Given the description of an element on the screen output the (x, y) to click on. 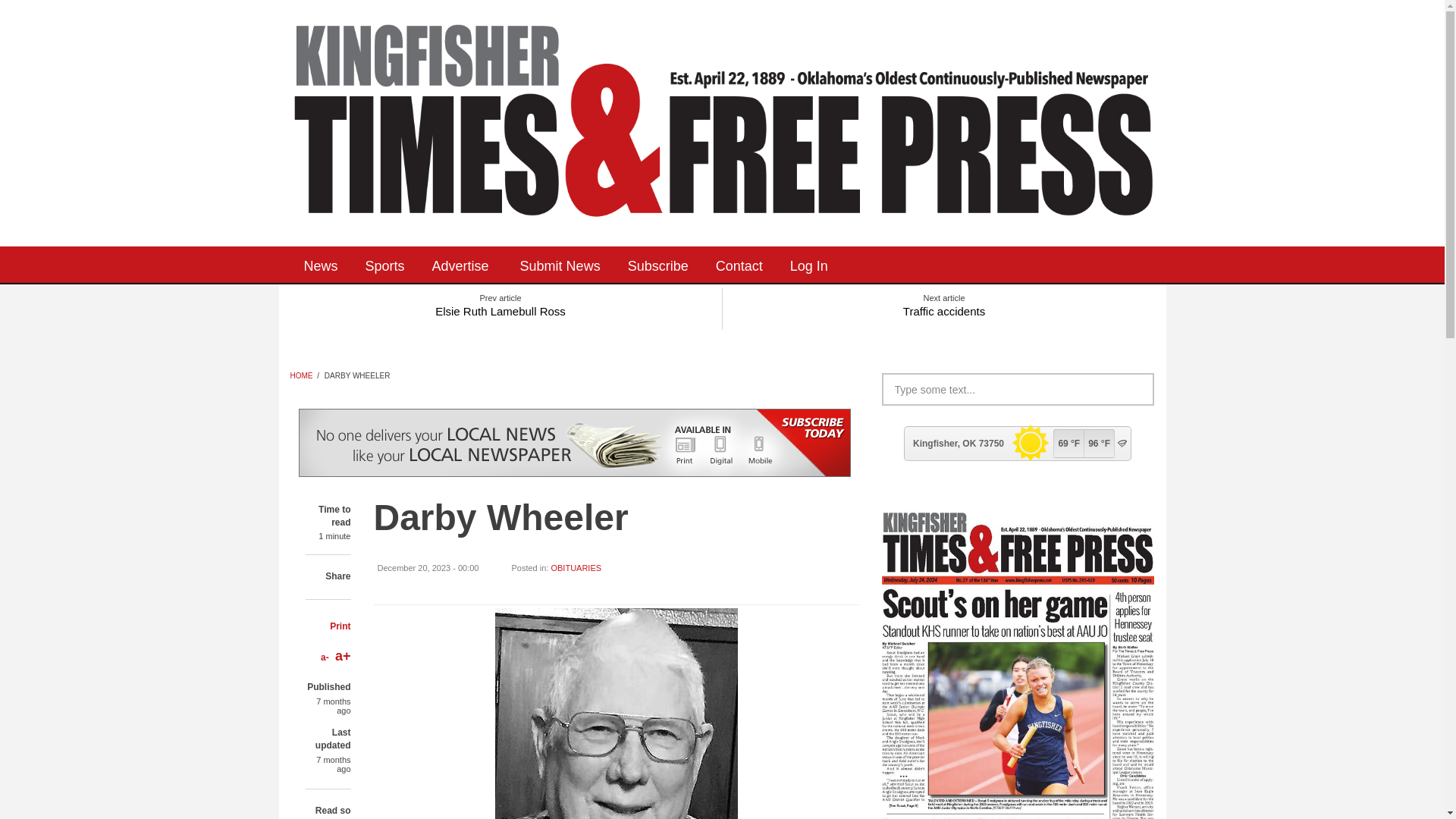
Twitter (944, 264)
OBITUARIES (575, 567)
Submit News (560, 264)
Contact (738, 264)
Sports (385, 264)
Traffic accidents (943, 307)
Type some text... (1017, 389)
Subscribe (657, 264)
HOME (301, 375)
Print (340, 625)
News (319, 264)
Advertise  (462, 264)
Traffic accidents (943, 307)
